Given the description of an element on the screen output the (x, y) to click on. 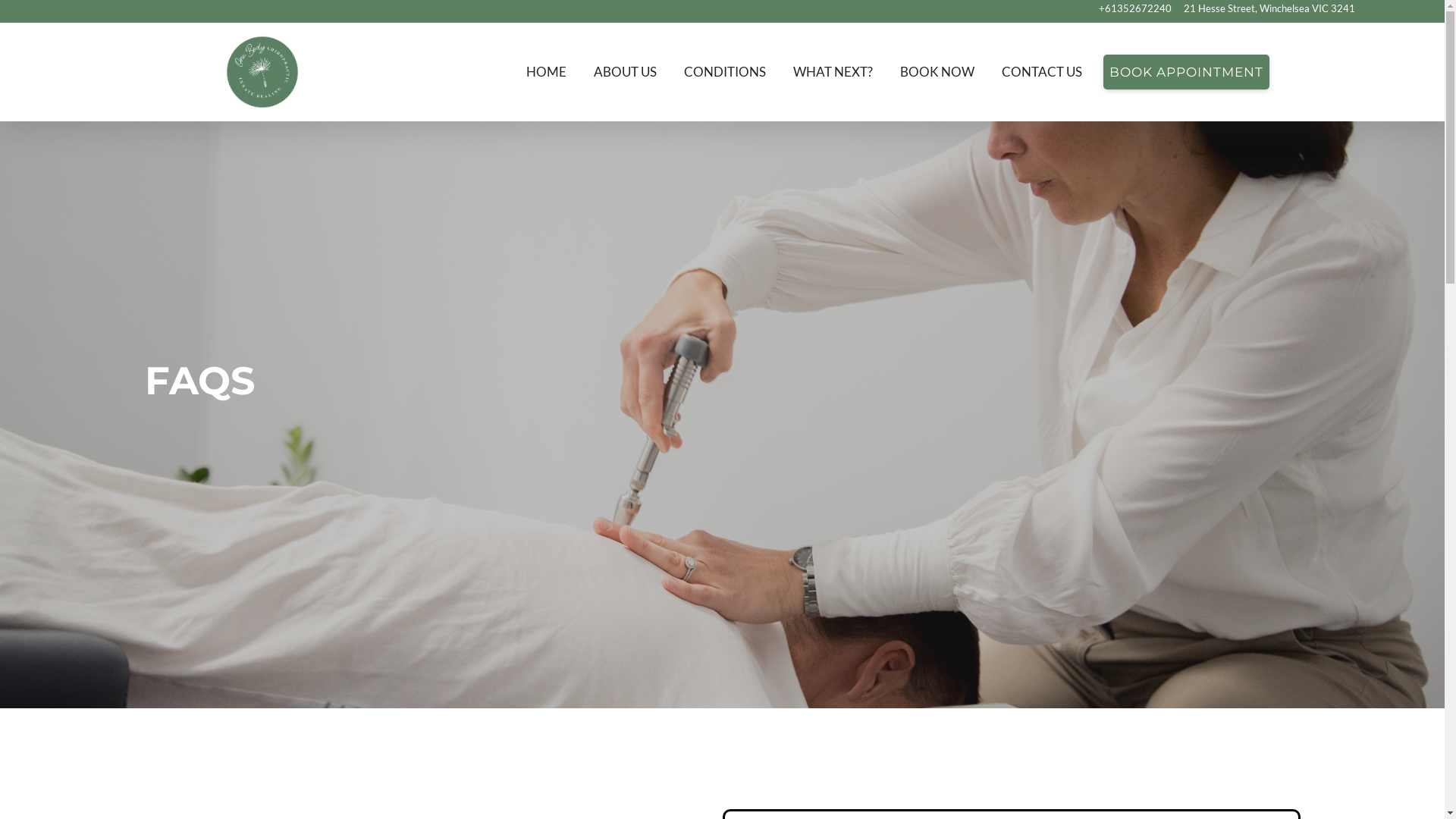
CONDITIONS Element type: text (724, 72)
ABOUT US Element type: text (624, 72)
+61352672240 Element type: text (1134, 8)
HOME Element type: text (546, 72)
BOOK NOW Element type: text (937, 72)
BOOK APPOINTMENT Element type: text (1186, 72)
CONTACT US Element type: text (1041, 72)
21 Hesse Street, Winchelsea VIC 3241 Element type: text (1269, 8)
WHAT NEXT? Element type: text (832, 72)
